Given the description of an element on the screen output the (x, y) to click on. 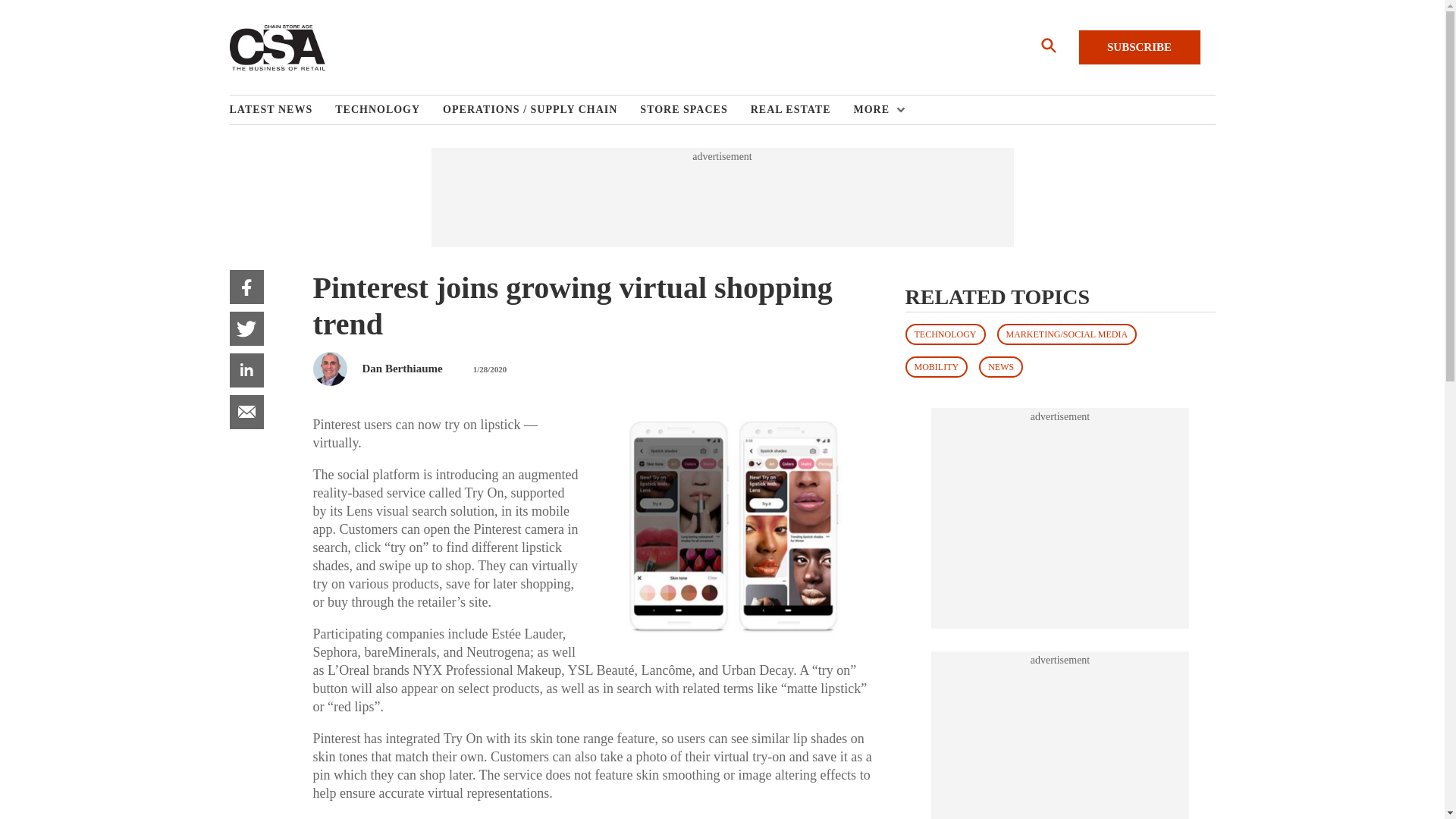
TECHNOLOGY (388, 109)
twitter (245, 328)
Dan Berthiaume (402, 368)
MOBILITY (936, 366)
linkedIn (245, 369)
TECHNOLOGY (945, 333)
linkedIn (245, 369)
LATEST NEWS (281, 109)
email (245, 411)
REAL ESTATE (802, 109)
email (245, 411)
3rd party ad content (721, 197)
3rd party ad content (1059, 518)
facebook (245, 286)
SUBSCRIBE (1138, 47)
